Given the description of an element on the screen output the (x, y) to click on. 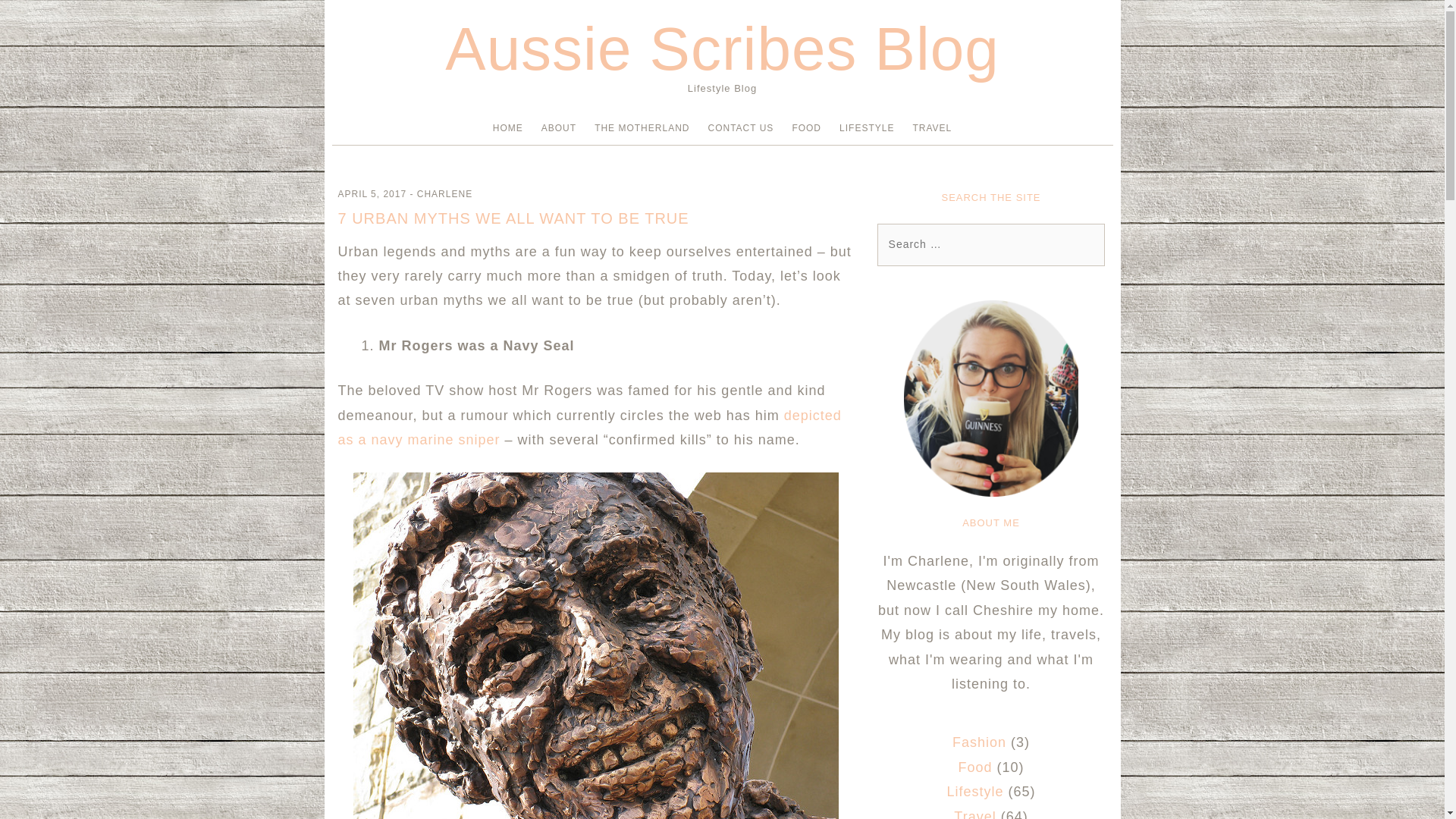
Fashion (979, 742)
APRIL 5, 2017 (372, 194)
Food (974, 767)
THE MOTHERLAND (641, 127)
Aussie Scribes Blog (721, 48)
HOME (507, 127)
depicted as a navy marine sniper (589, 427)
TRAVEL (932, 127)
Lifestyle (974, 791)
